Given the description of an element on the screen output the (x, y) to click on. 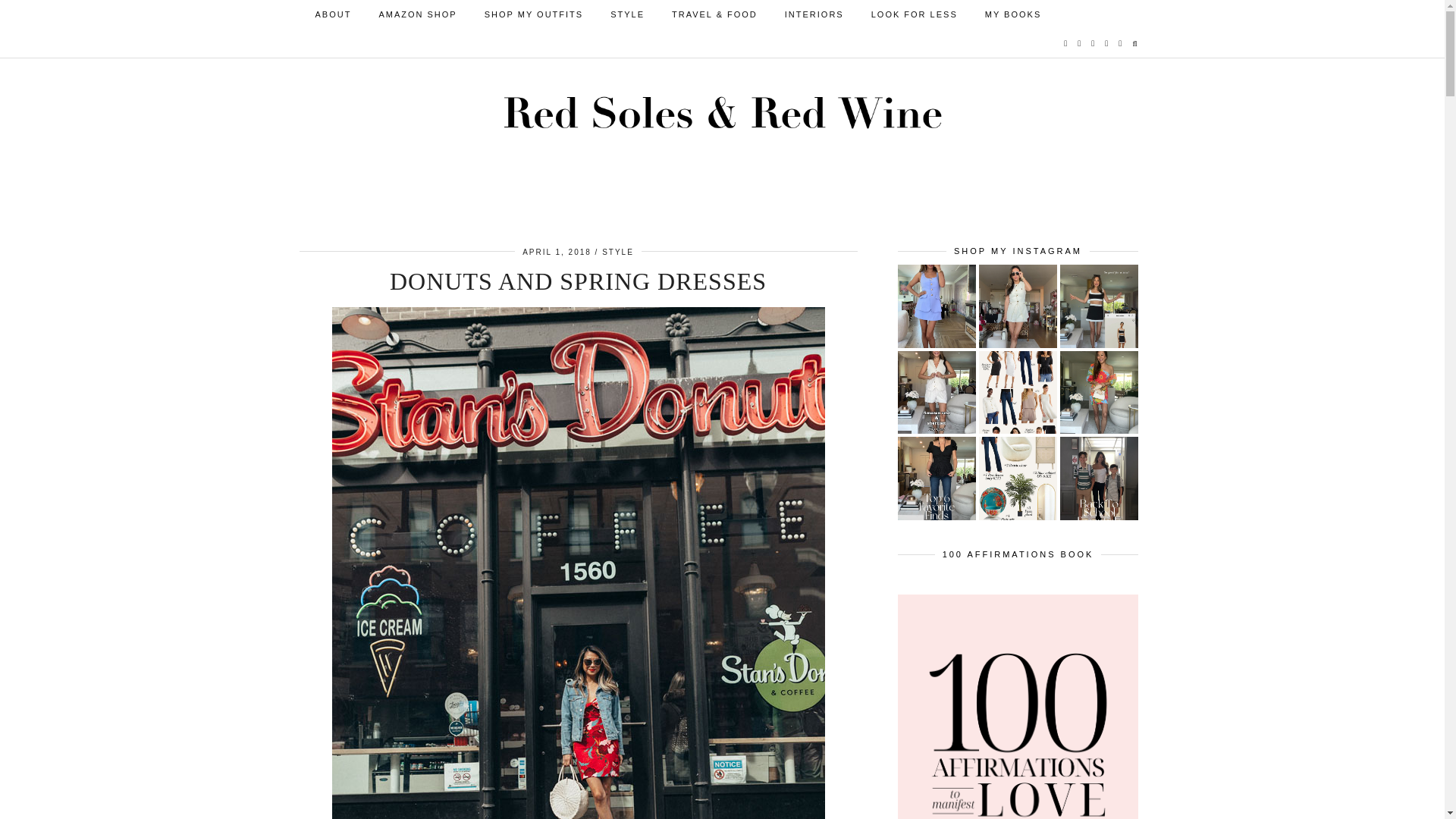
Red Soles and Red Wine (721, 112)
ABOUT (333, 14)
